Given the description of an element on the screen output the (x, y) to click on. 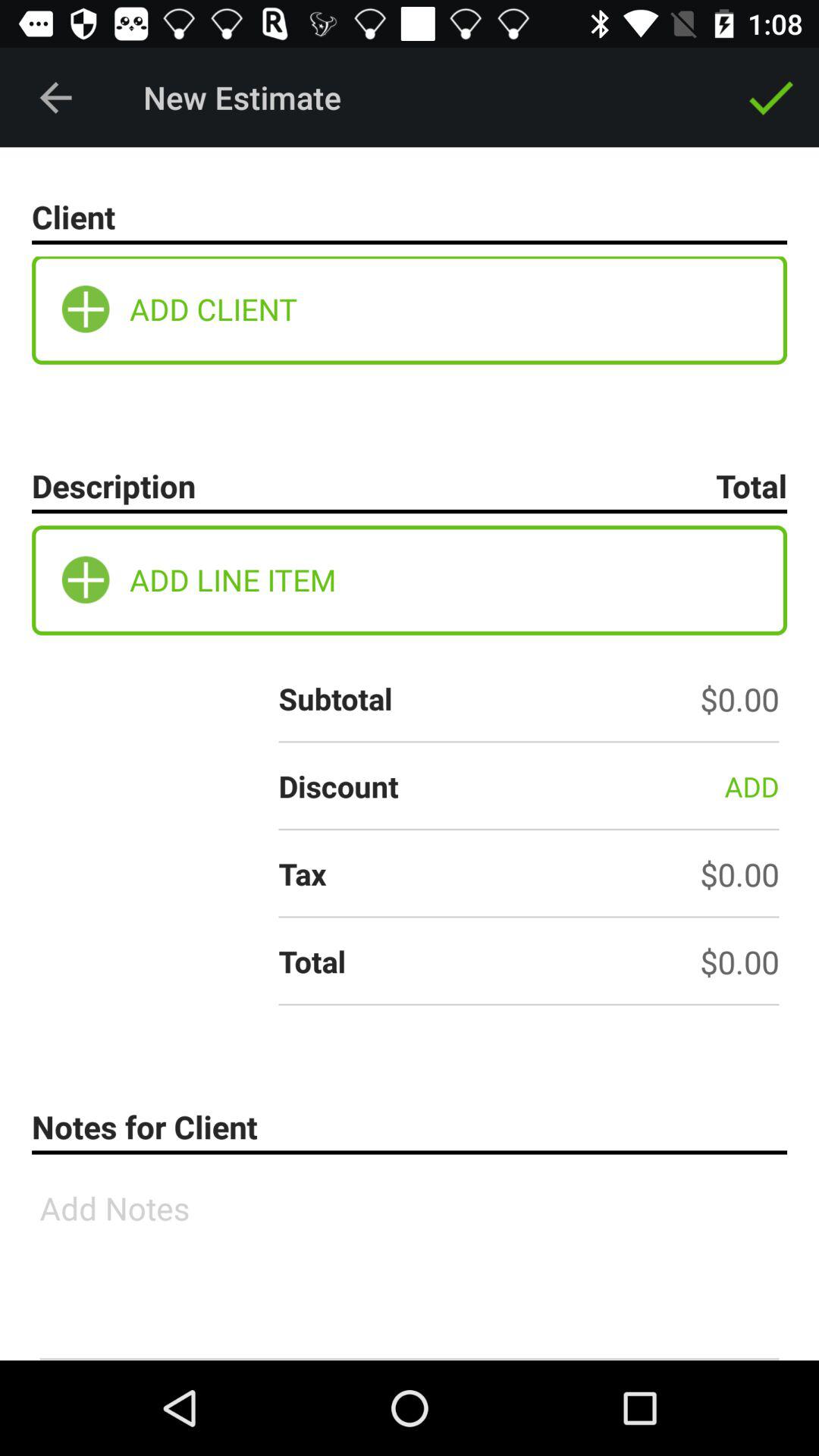
add notes (409, 1263)
